Given the description of an element on the screen output the (x, y) to click on. 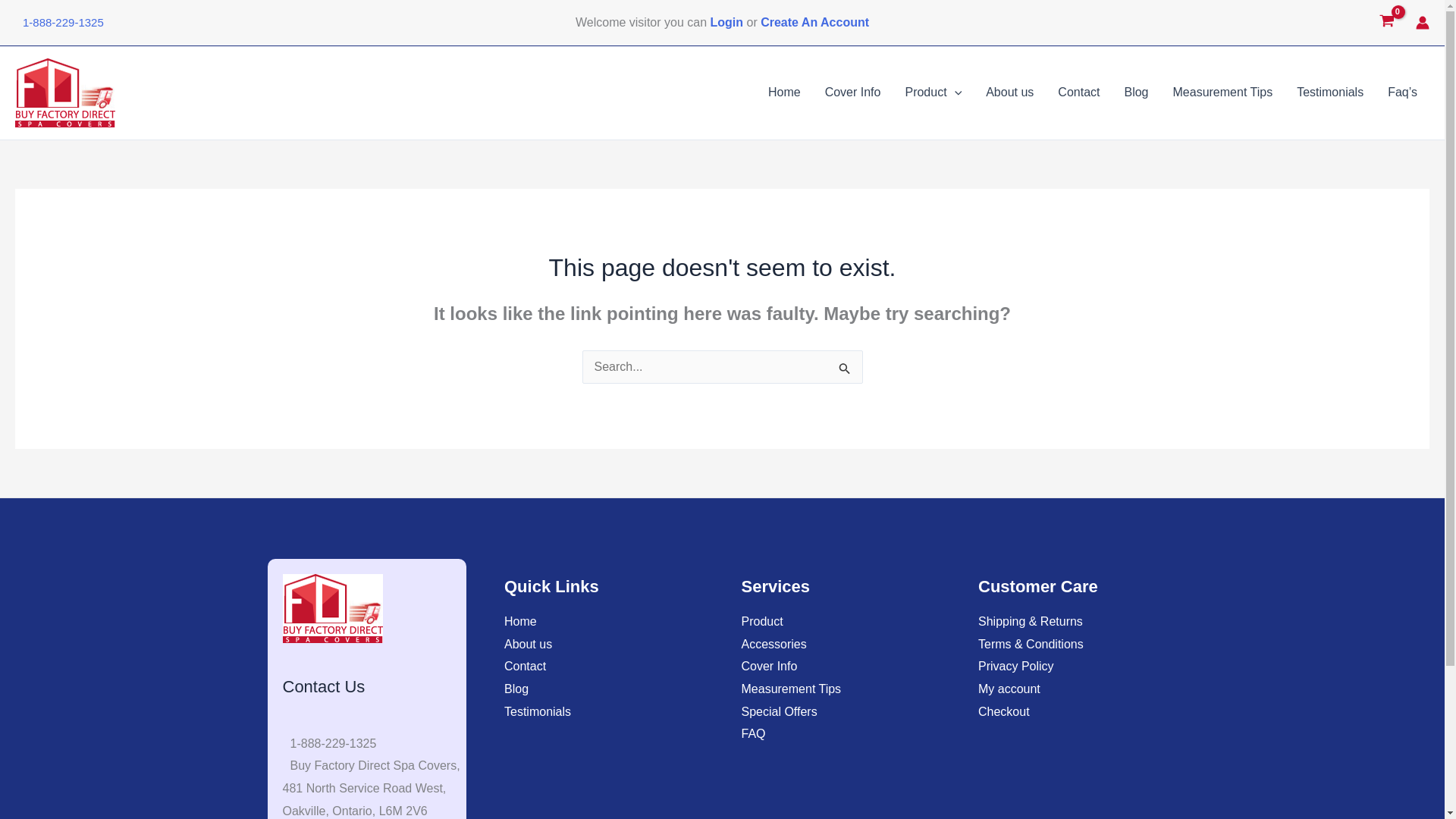
Home (783, 92)
Cover Info (852, 92)
Contact (1078, 92)
Create An Account (814, 21)
Product (933, 92)
Login (727, 21)
Testimonials (1329, 92)
About us (1009, 92)
1-888-229-1325 (58, 21)
Measurement Tips (1222, 92)
